Given the description of an element on the screen output the (x, y) to click on. 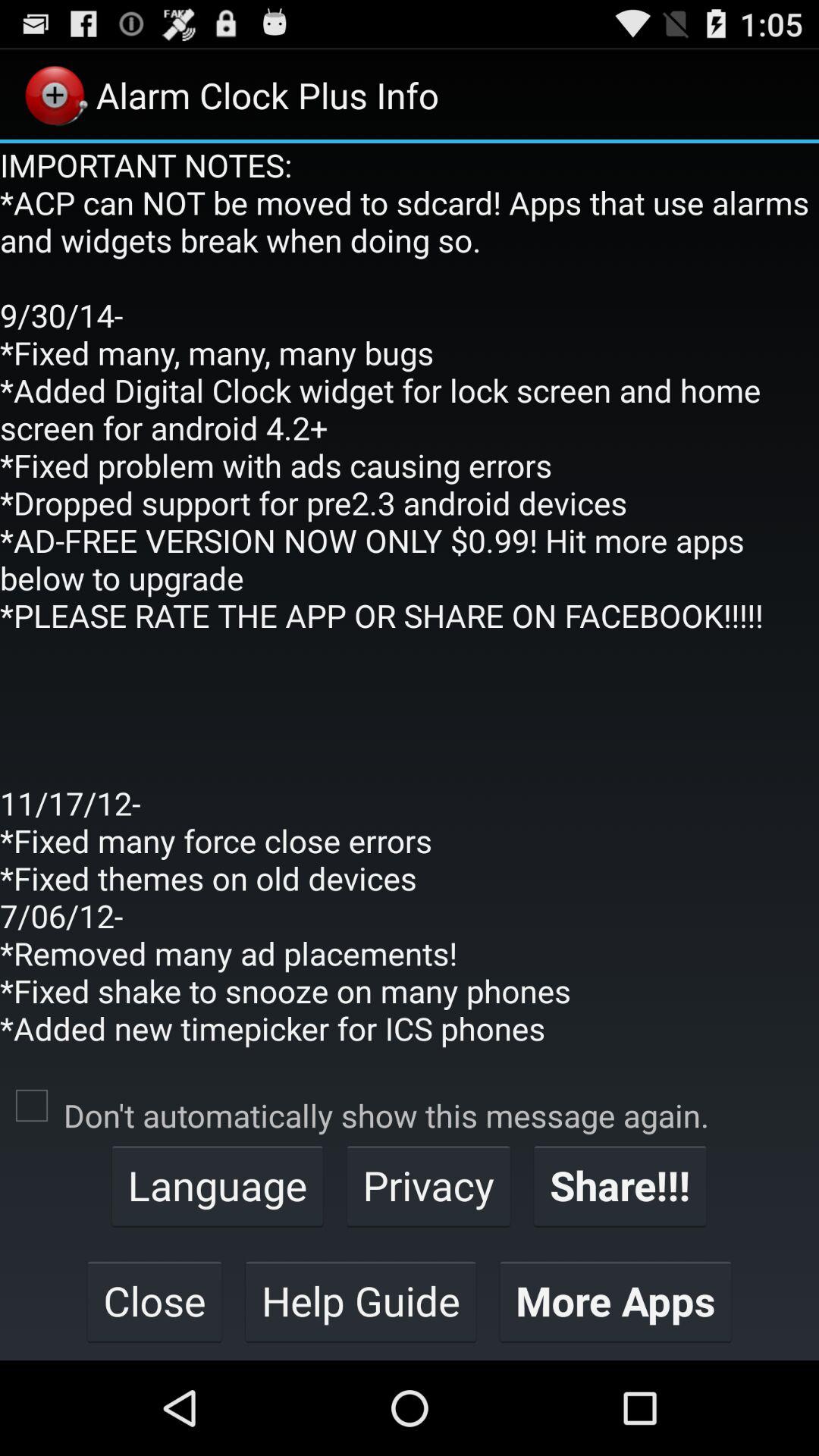
launch the language item (217, 1185)
